Given the description of an element on the screen output the (x, y) to click on. 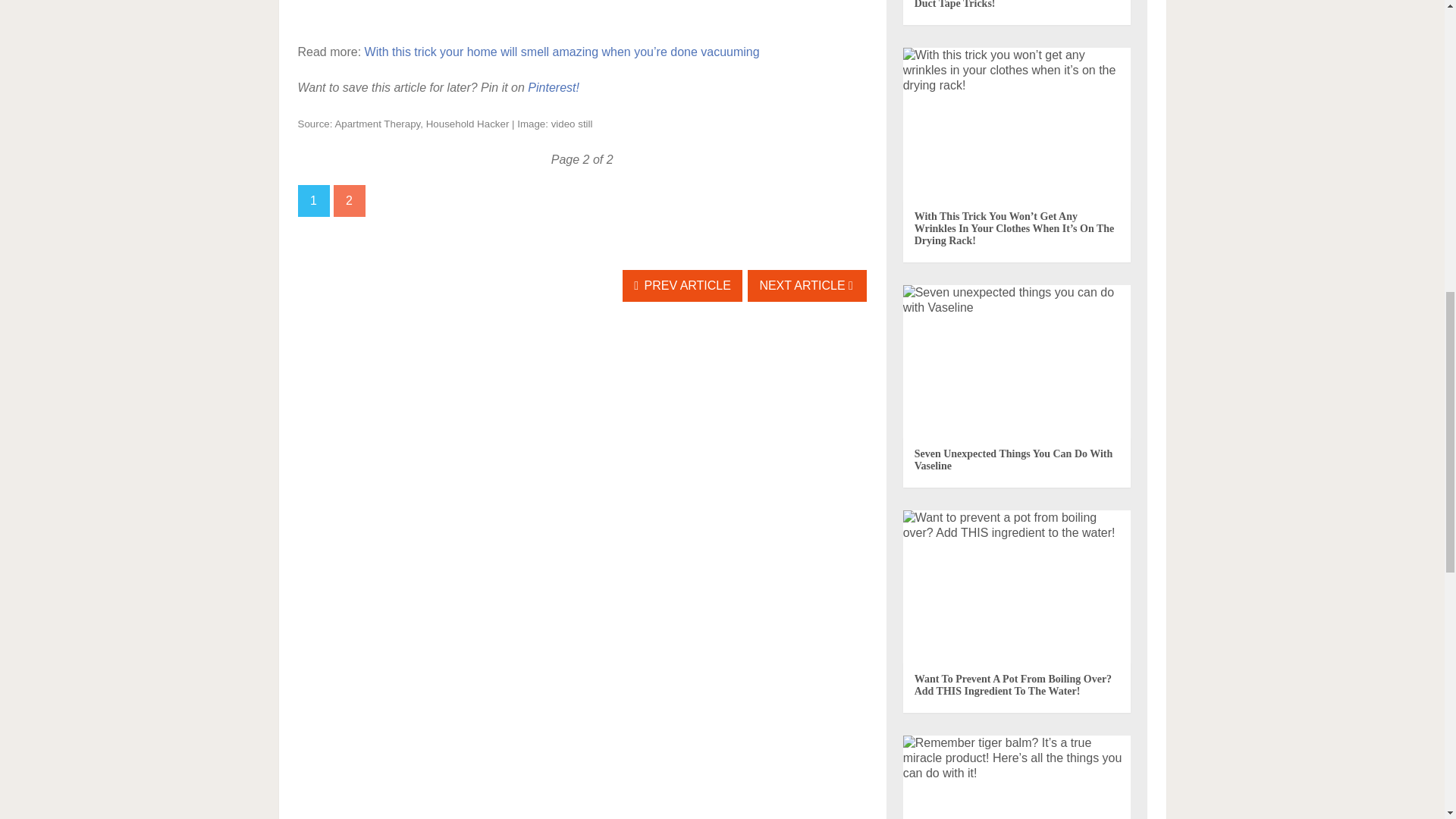
PREV ARTICLE (682, 286)
Household Hacker (467, 123)
Apartment Therapy (377, 123)
NEXT ARTICLE (807, 286)
1 (313, 201)
Seven Unexpected Things You Can Do With Vaseline (1013, 459)
Pinterest! (553, 87)
